Given the description of an element on the screen output the (x, y) to click on. 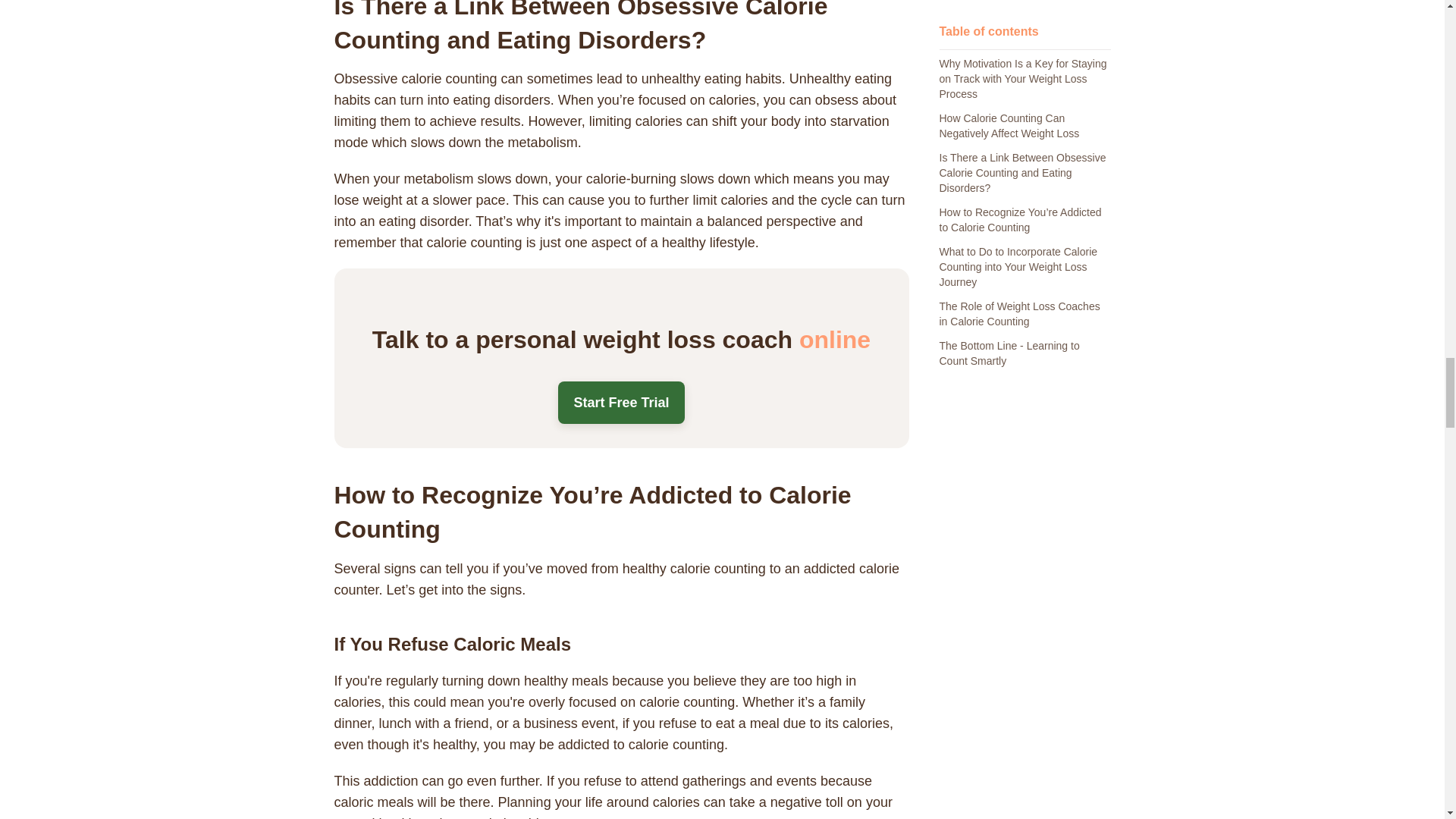
Start Free Trial (620, 402)
